Given the description of an element on the screen output the (x, y) to click on. 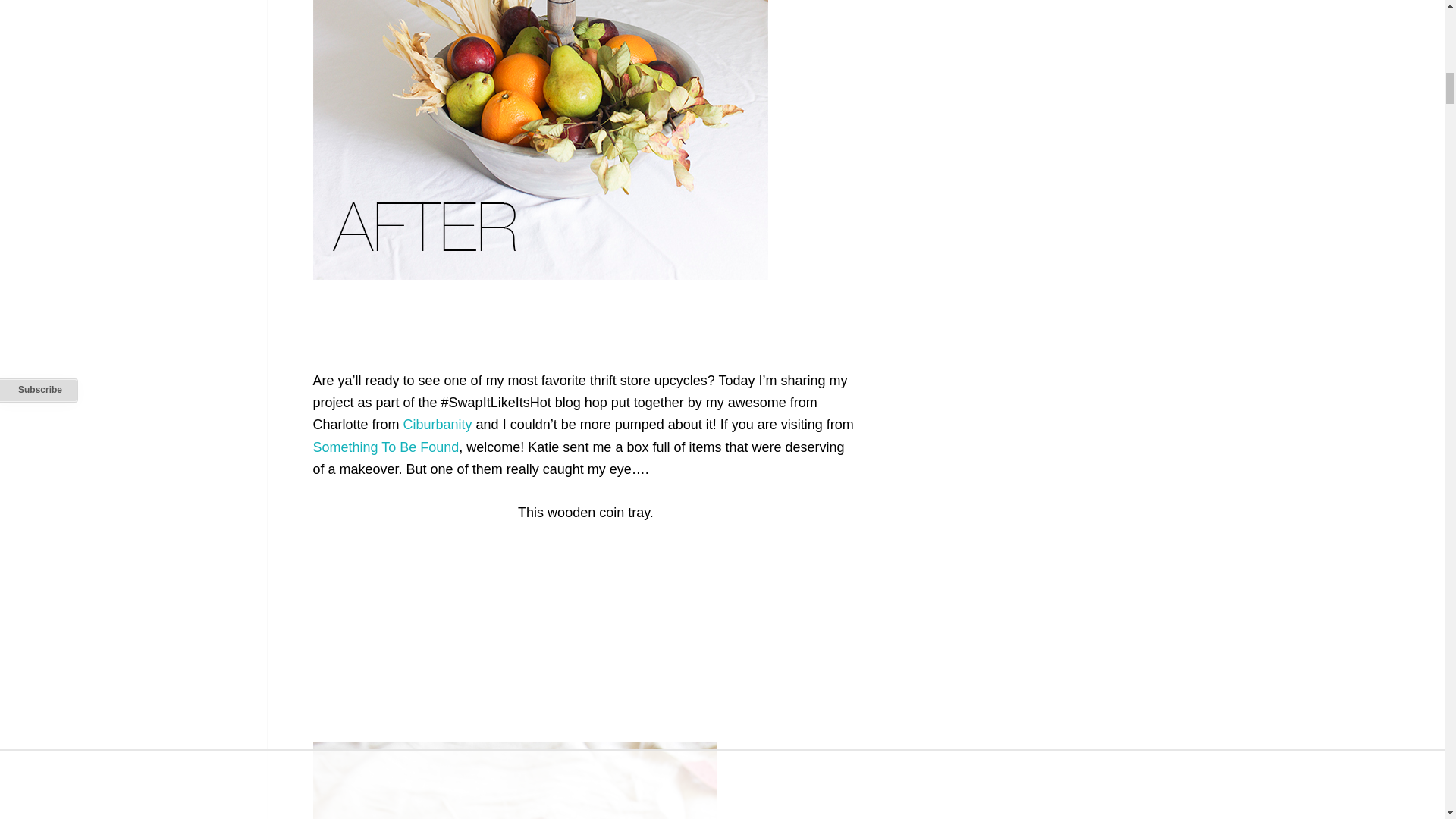
Ciburbanity (437, 424)
Something To Be Found (385, 447)
